Given the description of an element on the screen output the (x, y) to click on. 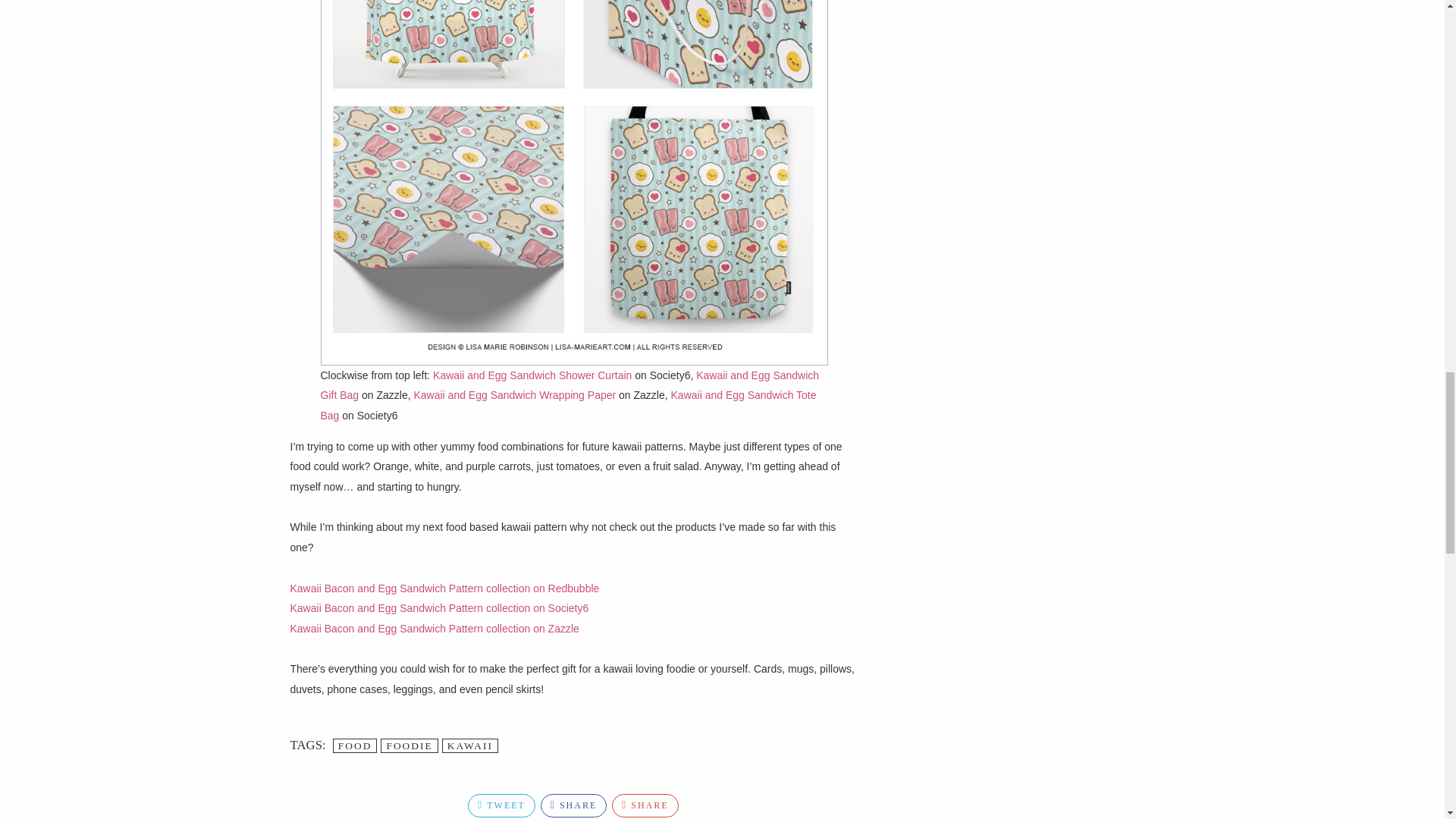
Kawaii and Egg Sandwich Shower Curtain (531, 375)
Kawaii and Egg Sandwich Wrapping Paper (514, 395)
Kawaii and Egg Sandwich Gift Bag (569, 385)
Kawaii Bacon and Egg Sandwich Pattern collection on Society6 (438, 607)
Kawaii and Egg Sandwich Tote Bag (567, 405)
